Given the description of an element on the screen output the (x, y) to click on. 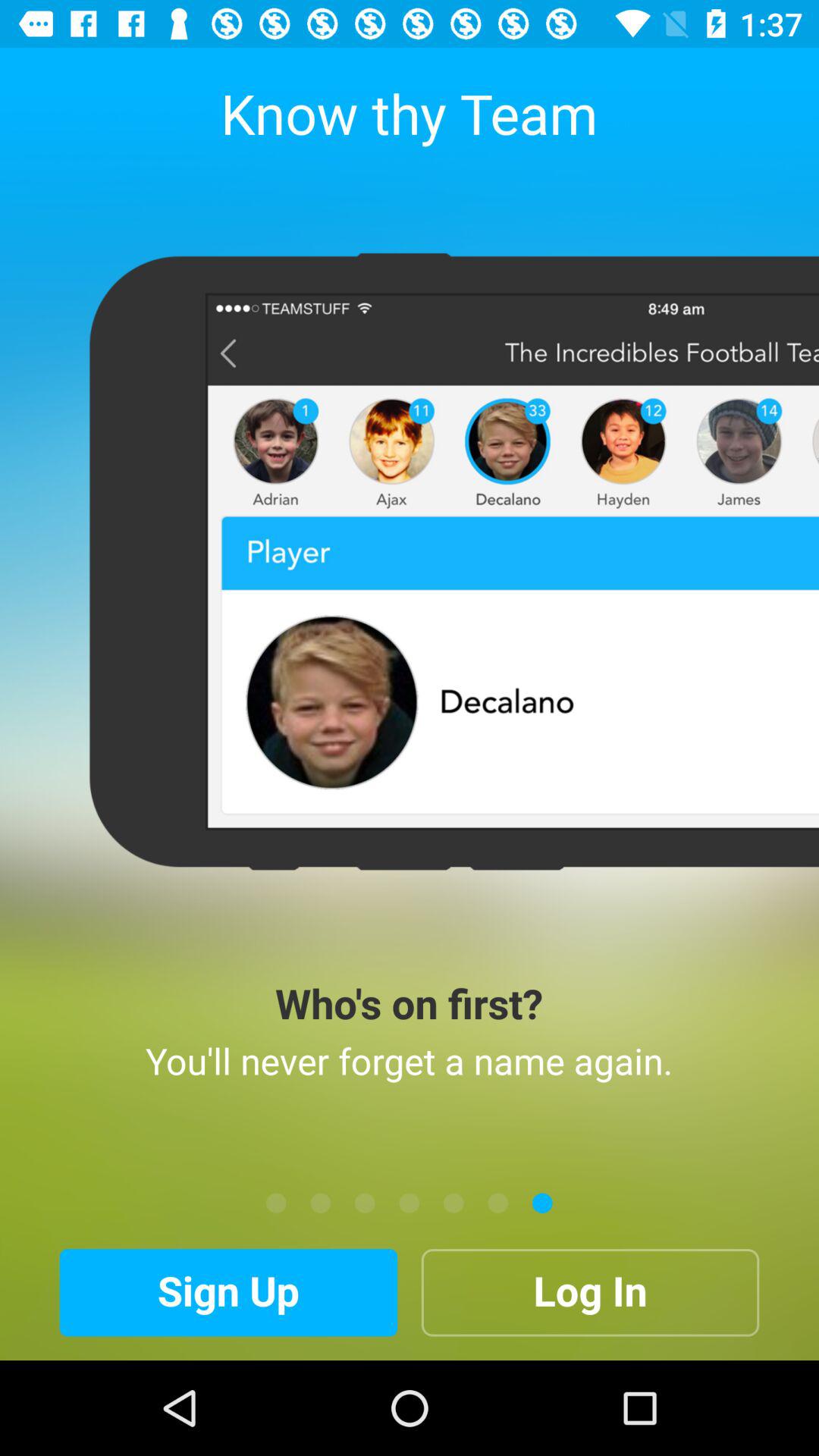
launch the icon to the left of the log in icon (228, 1292)
